Given the description of an element on the screen output the (x, y) to click on. 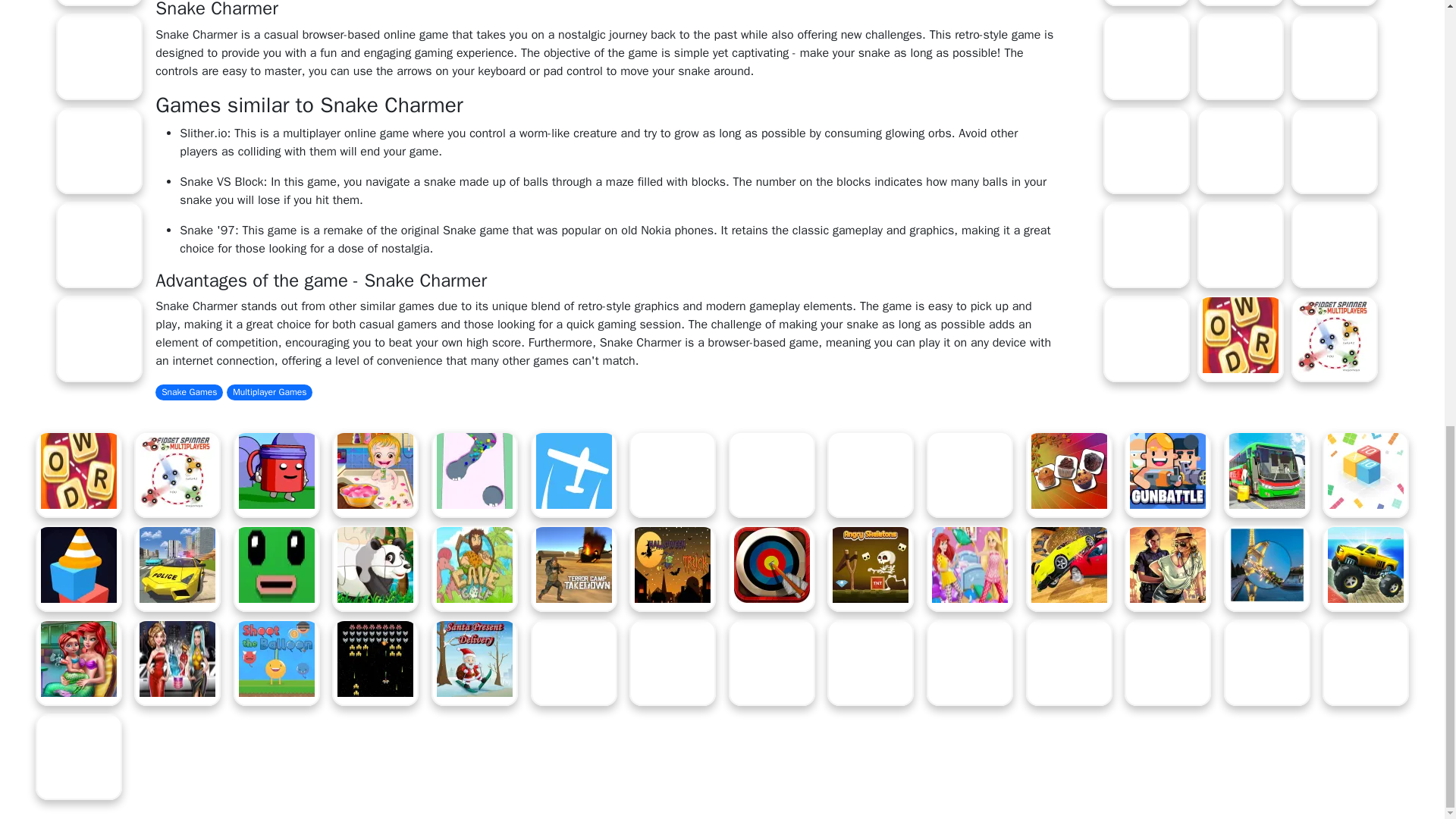
Gliding Car Race (99, 244)
SciFi Flight Simulator (99, 2)
Shape Attack  (99, 338)
Motocross Hero (99, 56)
Potato Chips Simulator (99, 150)
